Given the description of an element on the screen output the (x, y) to click on. 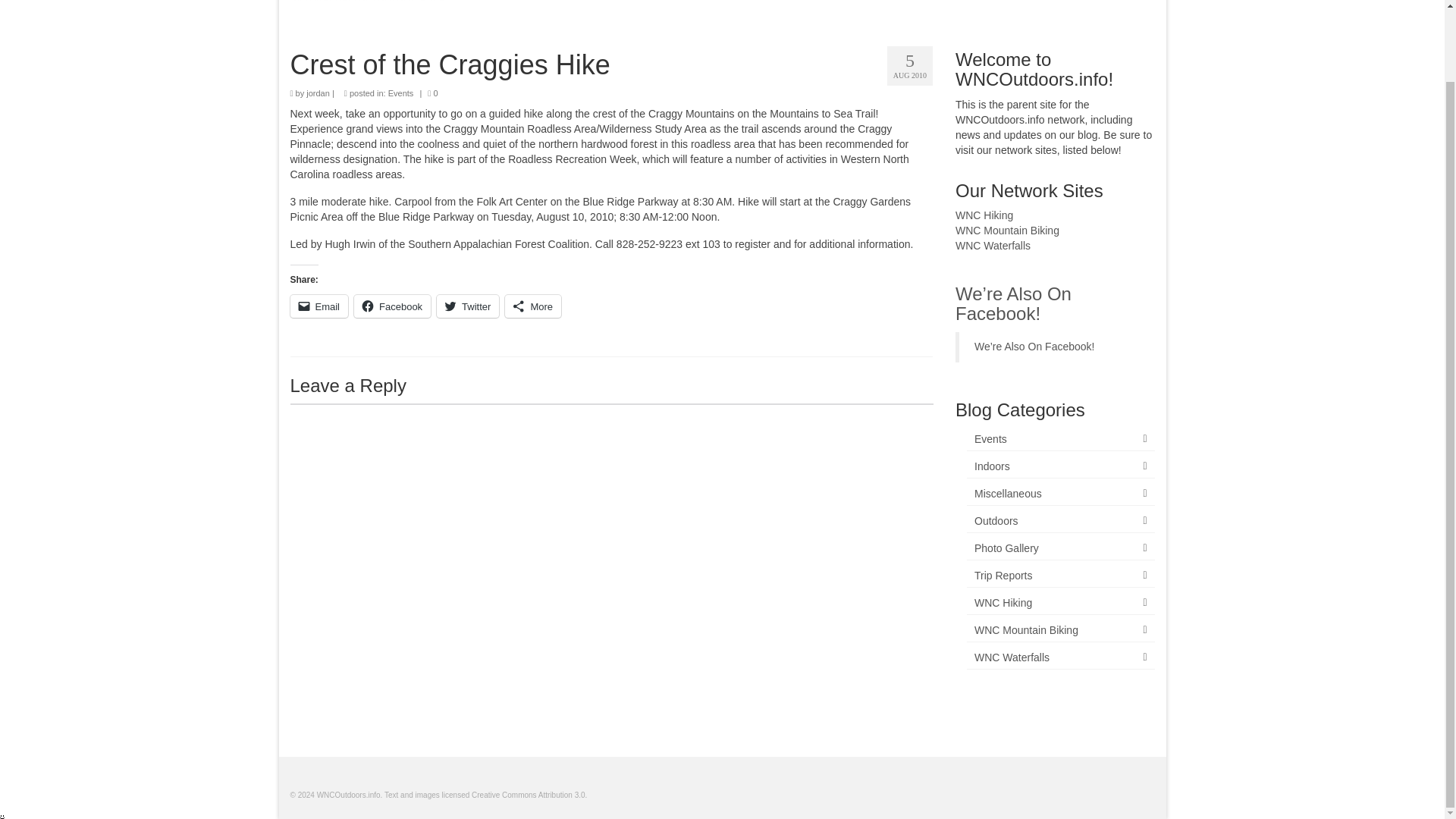
Home (872, 2)
Click to share on Facebook (391, 305)
Click to share on Twitter (467, 305)
Email (318, 305)
Click to email a link to a friend (318, 305)
Events (1060, 439)
About Us (1115, 2)
jordan (317, 92)
Twitter (467, 305)
